Given the description of an element on the screen output the (x, y) to click on. 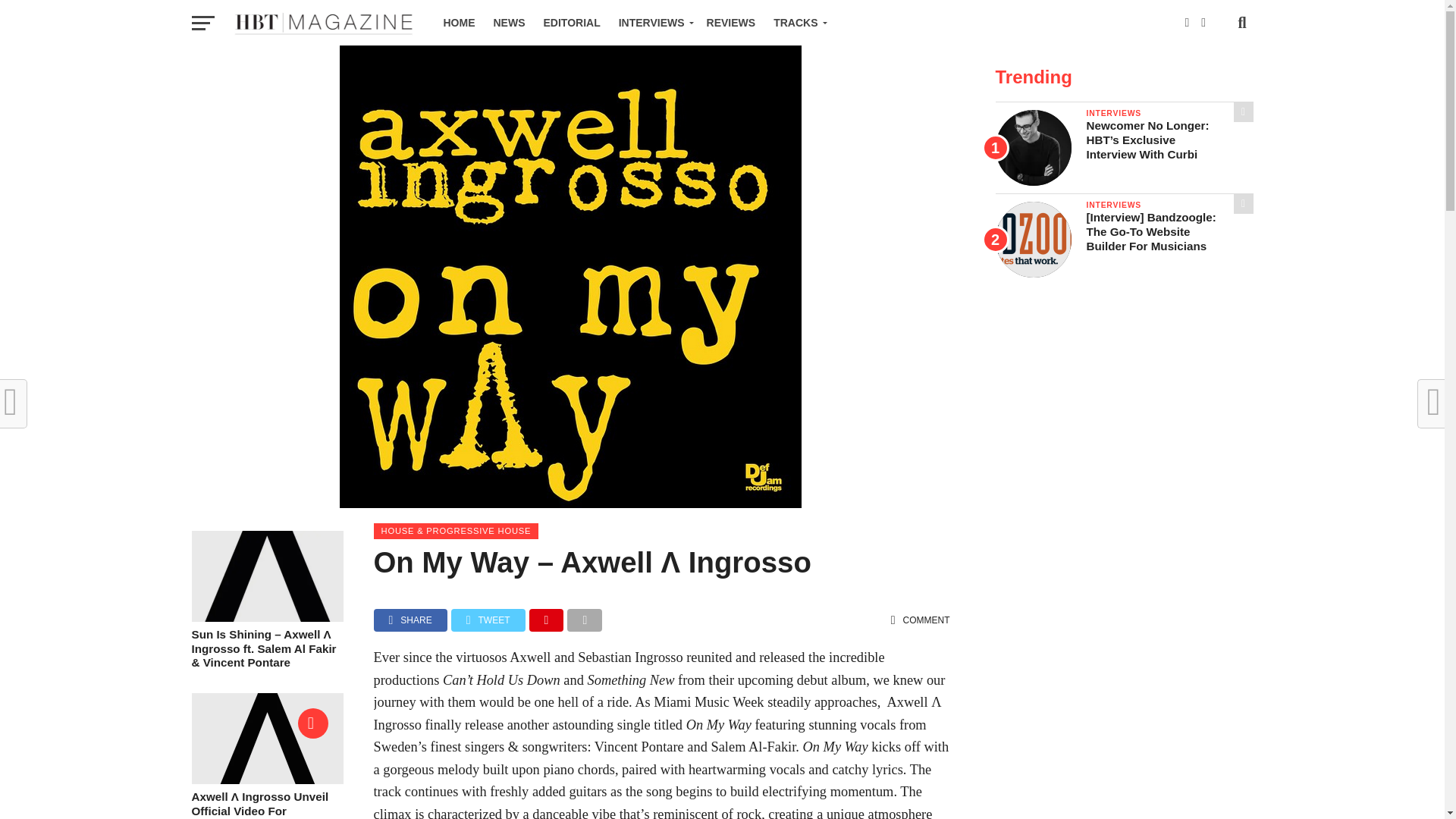
INTERVIEWS (653, 22)
EDITORIAL (571, 22)
NEWS (508, 22)
REVIEWS (731, 22)
TRACKS (796, 22)
HOME (458, 22)
